Given the description of an element on the screen output the (x, y) to click on. 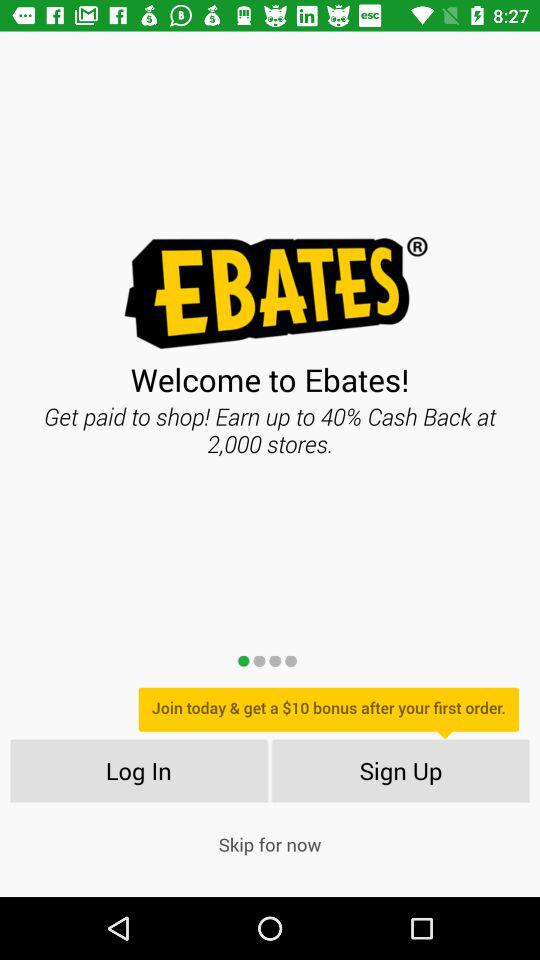
jump to log in icon (138, 770)
